Given the description of an element on the screen output the (x, y) to click on. 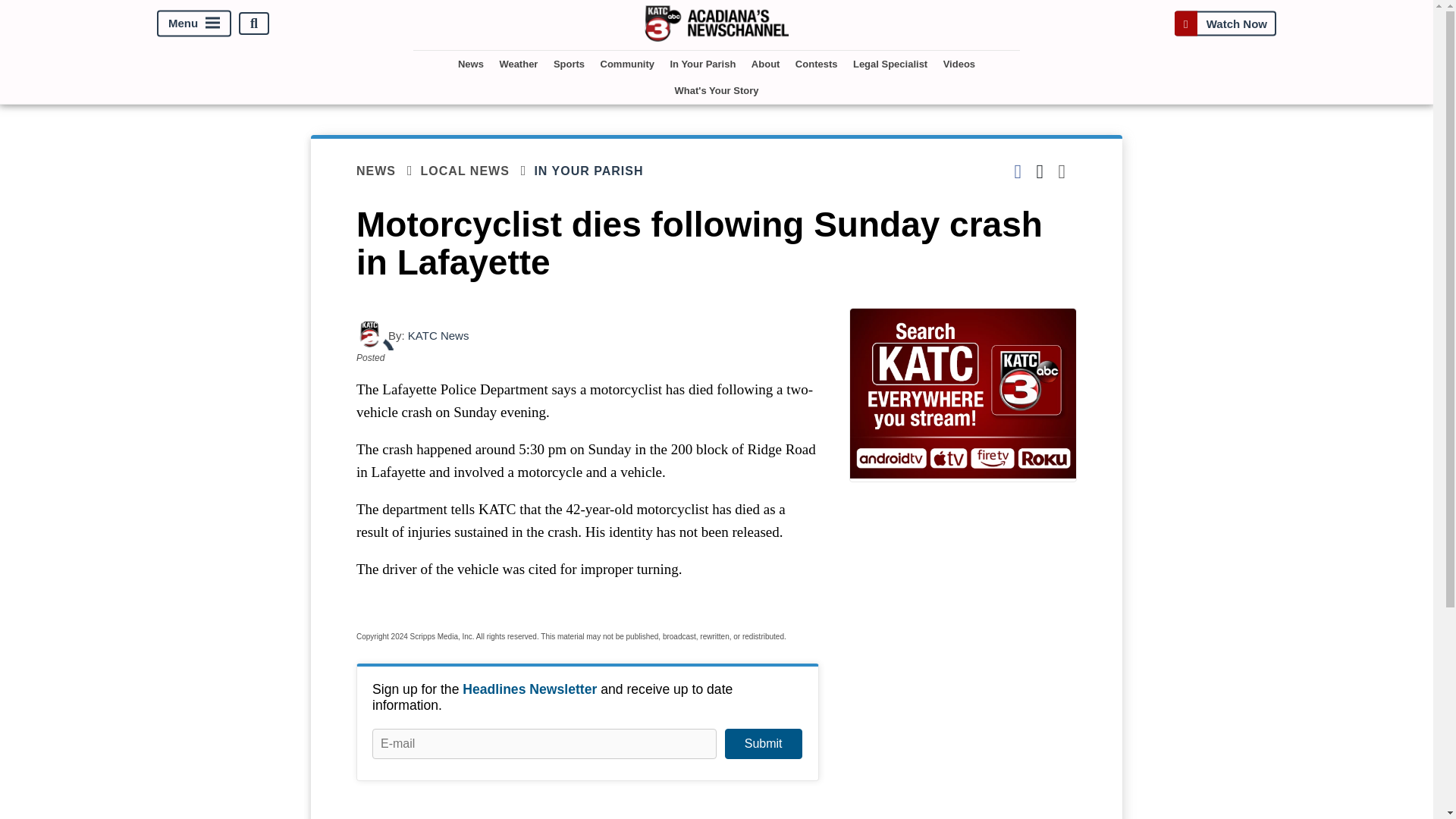
Submit (763, 743)
Watch Now (1224, 23)
Menu (194, 23)
